Given the description of an element on the screen output the (x, y) to click on. 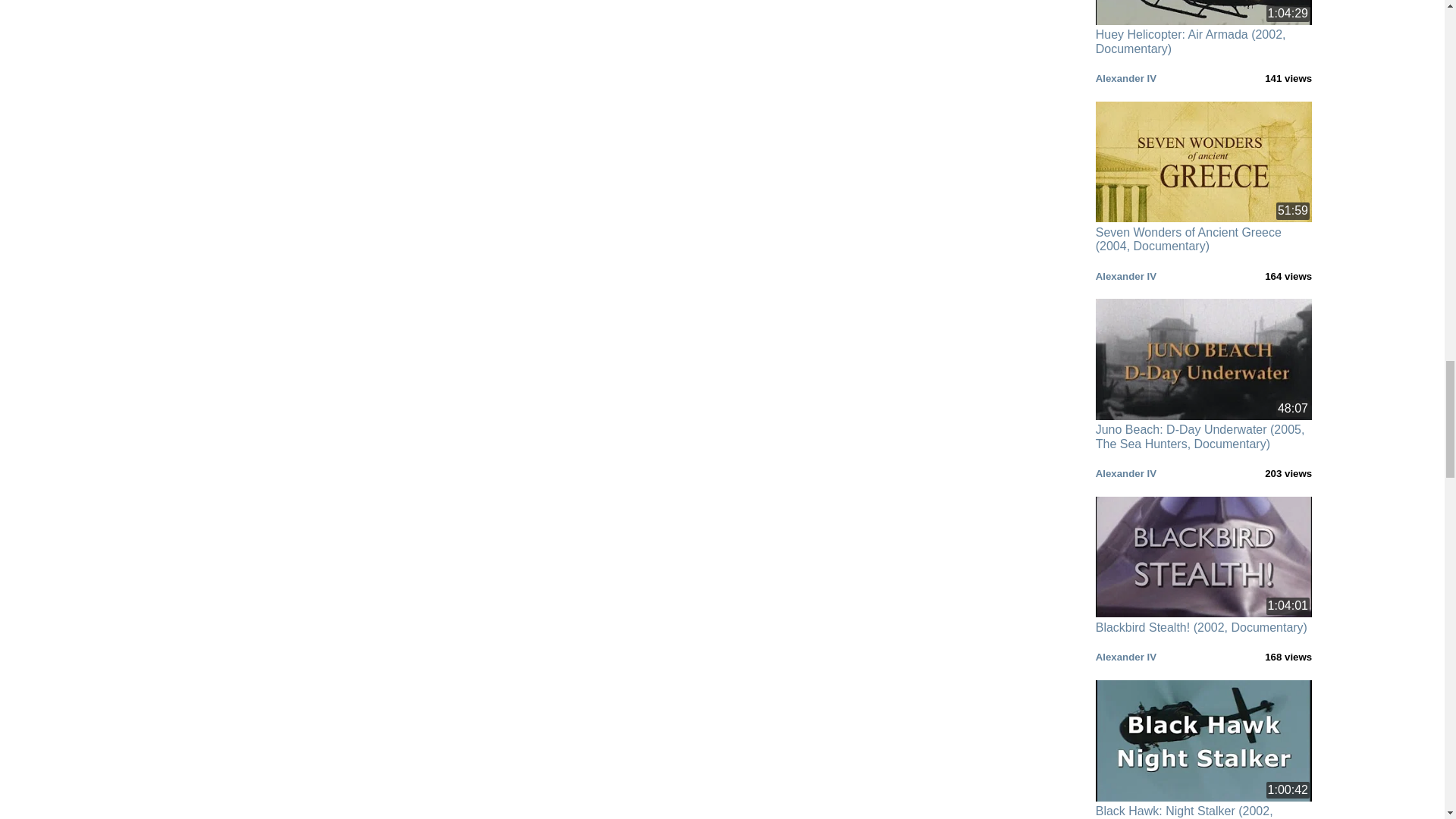
Alexander IV (1126, 78)
Alexander IV (1126, 276)
Alexander IV (1126, 473)
